Given the description of an element on the screen output the (x, y) to click on. 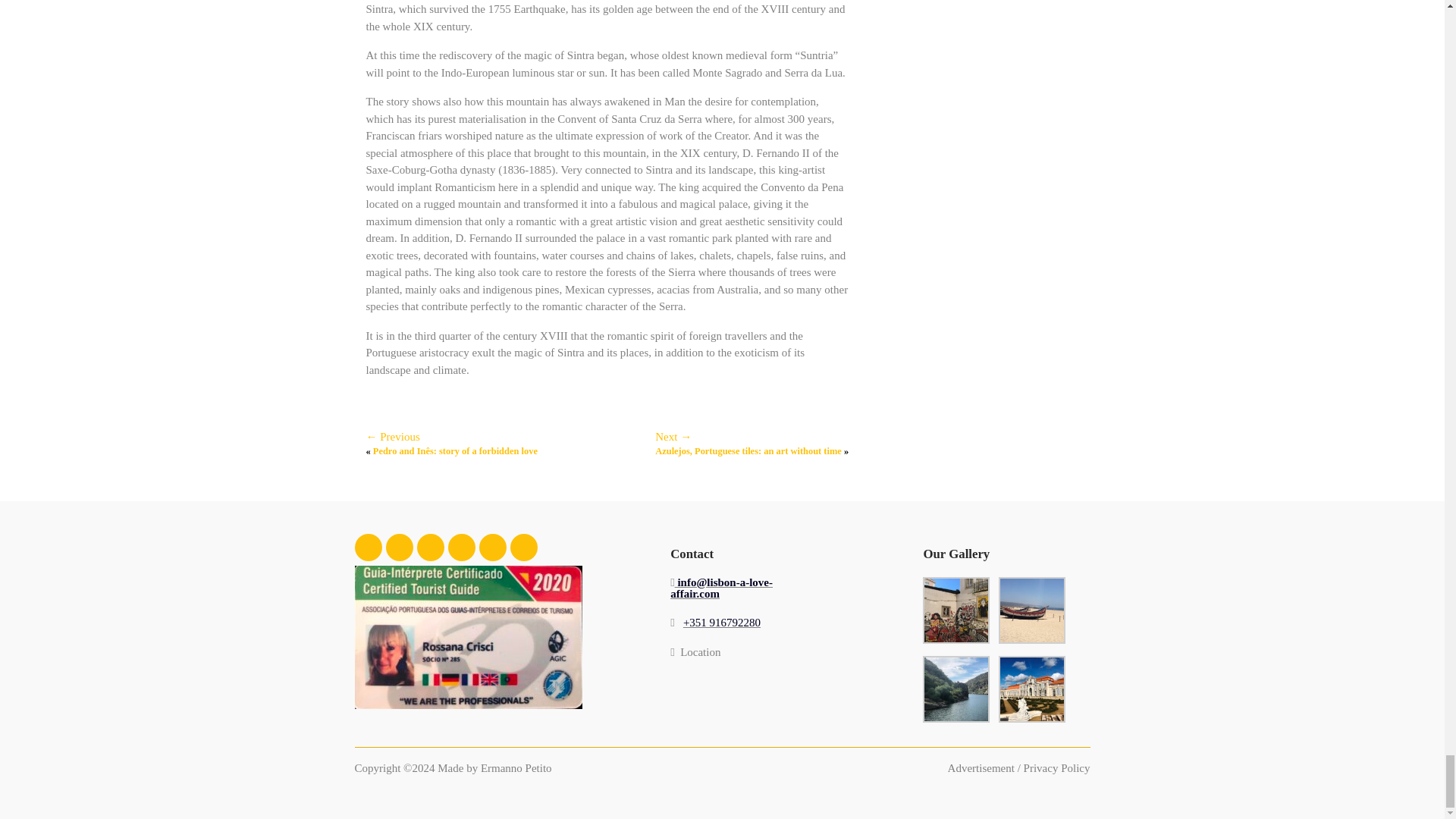
Azulejos, Portuguese tiles: an art without time (748, 450)
